Given the description of an element on the screen output the (x, y) to click on. 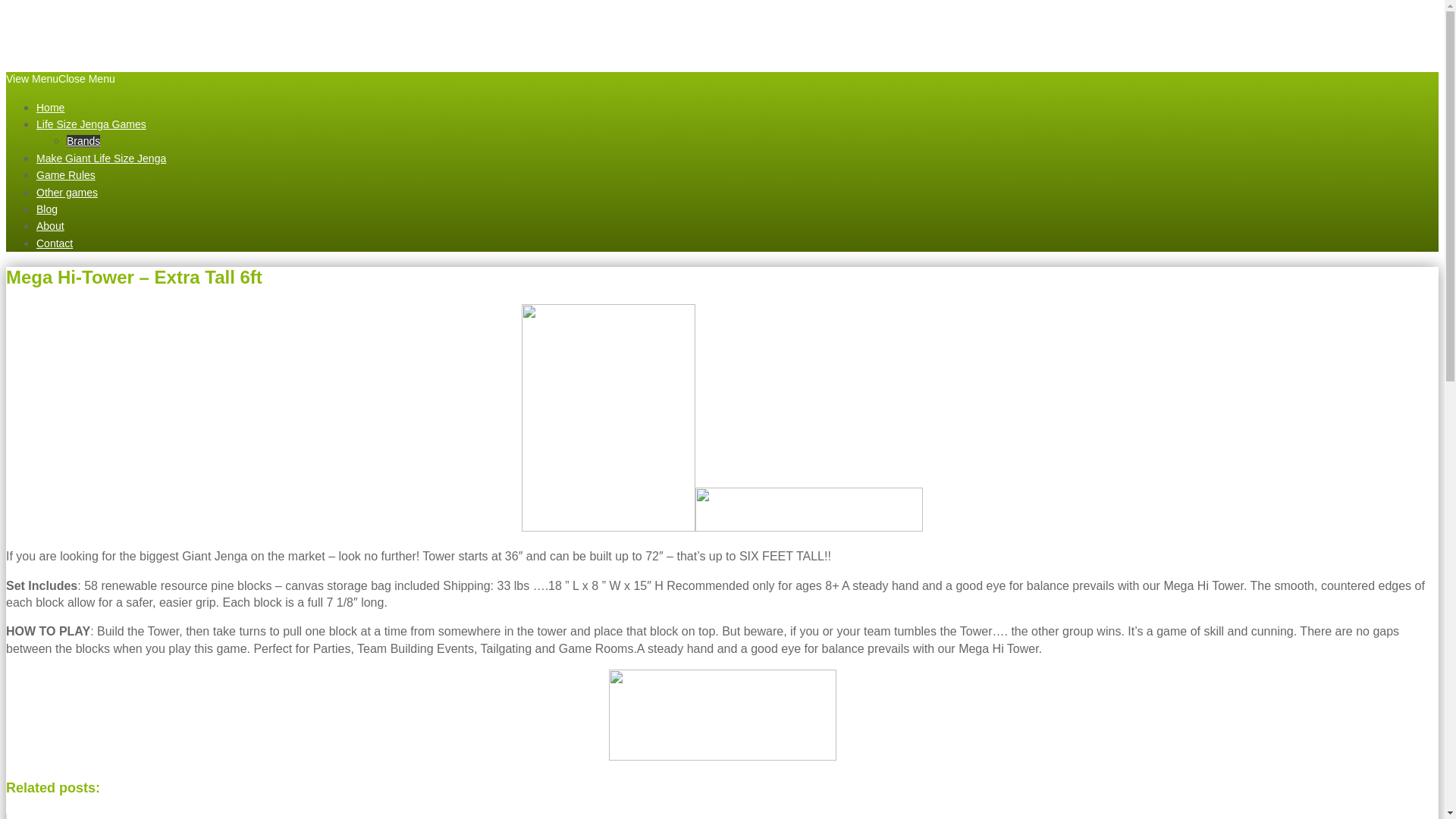
Other games (66, 192)
Contact (54, 243)
Life Size Jenga (117, 24)
Brands (83, 141)
Home (50, 107)
Blog (47, 209)
Game Rules (66, 174)
Life Size Jenga Games (91, 123)
Make Giant Life Size Jenga (100, 158)
About (50, 225)
